Given the description of an element on the screen output the (x, y) to click on. 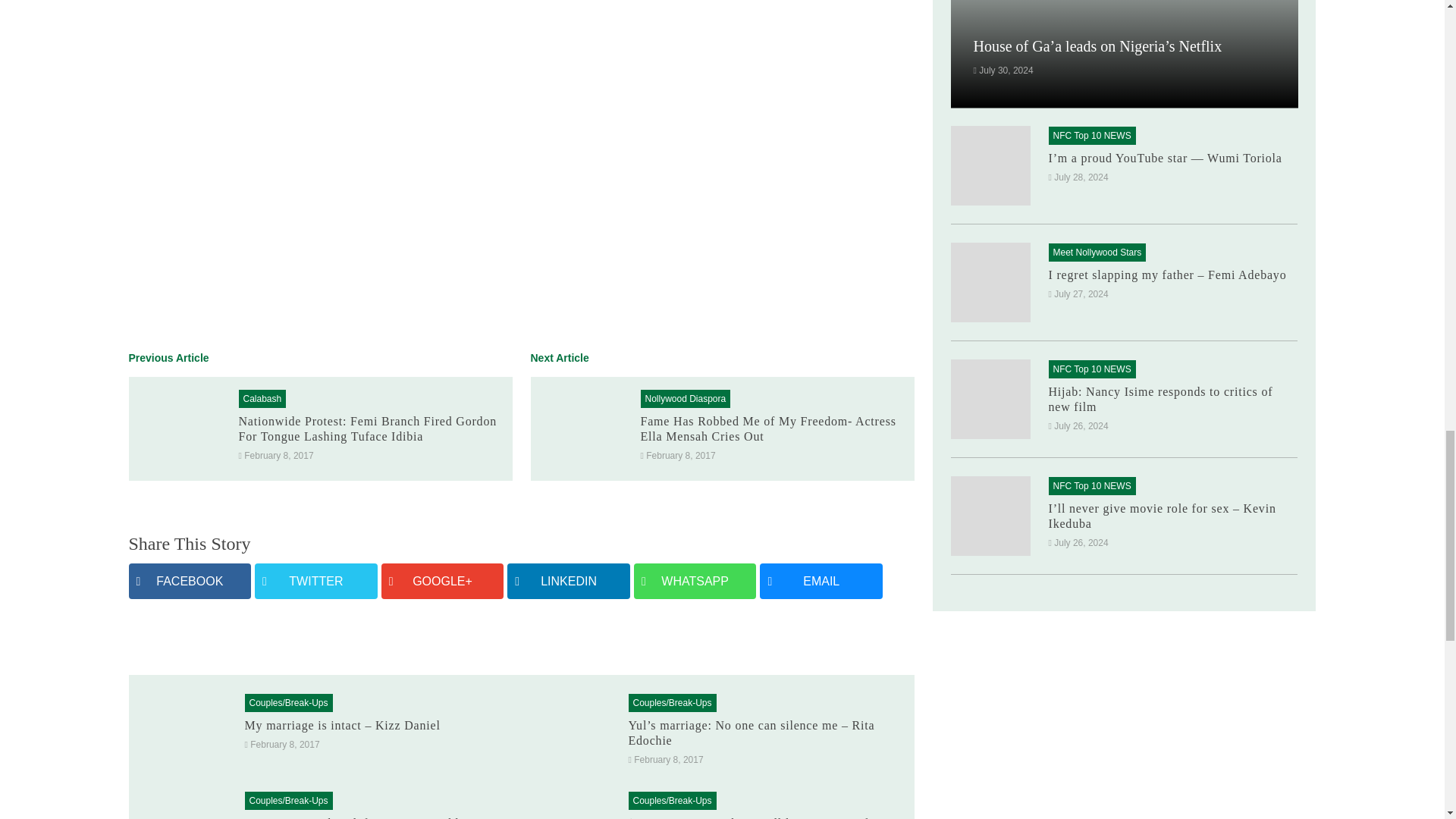
twitter (315, 580)
FACEBOOK (190, 580)
linkedin (568, 580)
facebook (190, 580)
Nollywood Diaspora (685, 398)
Calabash (262, 398)
googleplus (442, 580)
whatsapp (695, 580)
TWITTER (315, 580)
Nollywood Diaspora (685, 398)
